Given the description of an element on the screen output the (x, y) to click on. 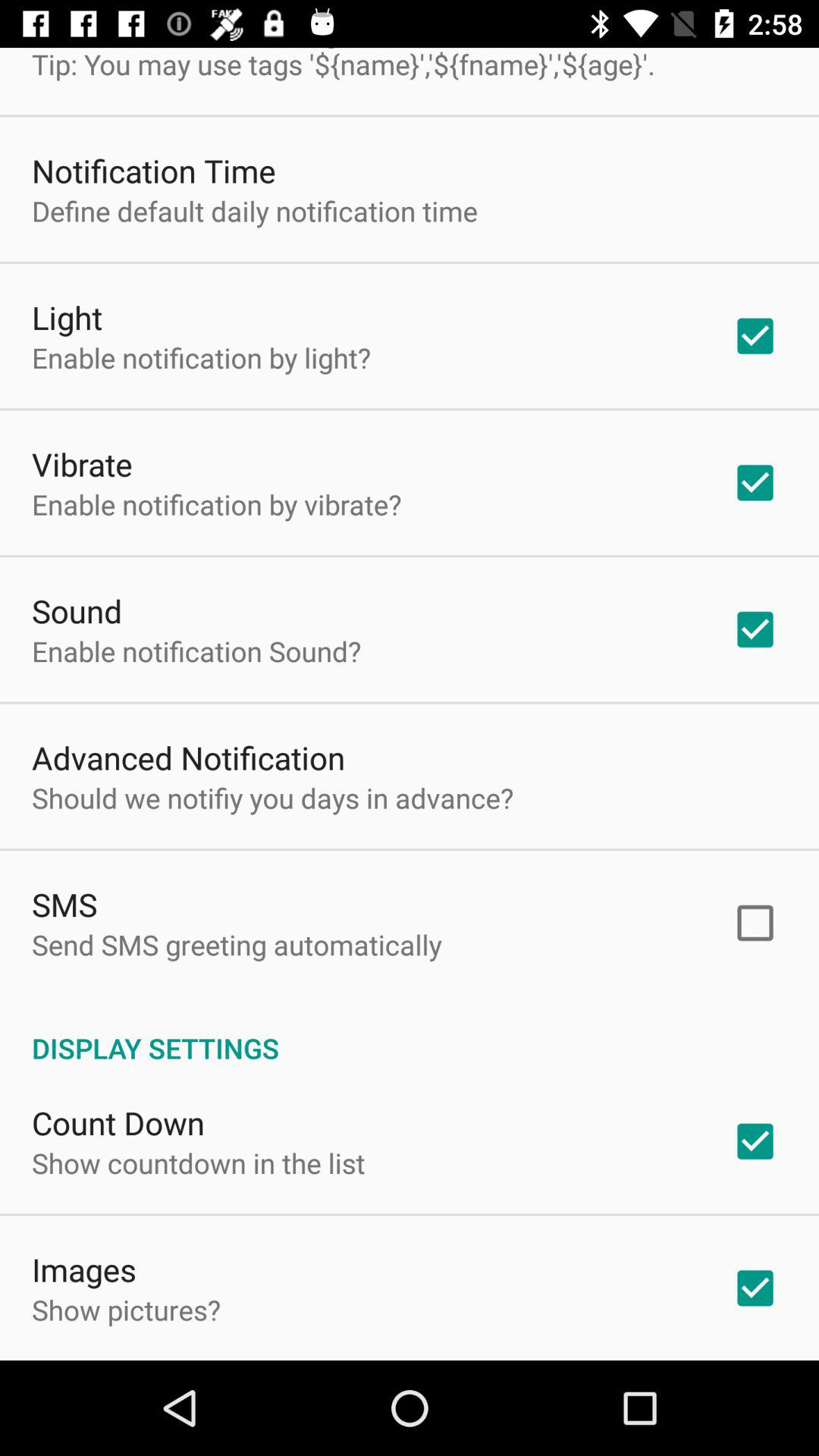
flip to show pictures? app (125, 1309)
